Given the description of an element on the screen output the (x, y) to click on. 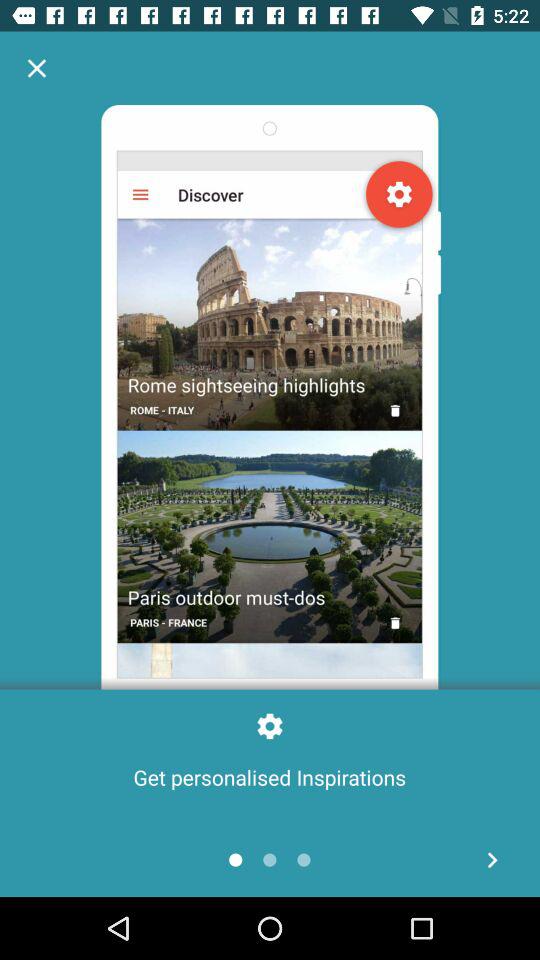
launch the icon at the top left corner (36, 68)
